Given the description of an element on the screen output the (x, y) to click on. 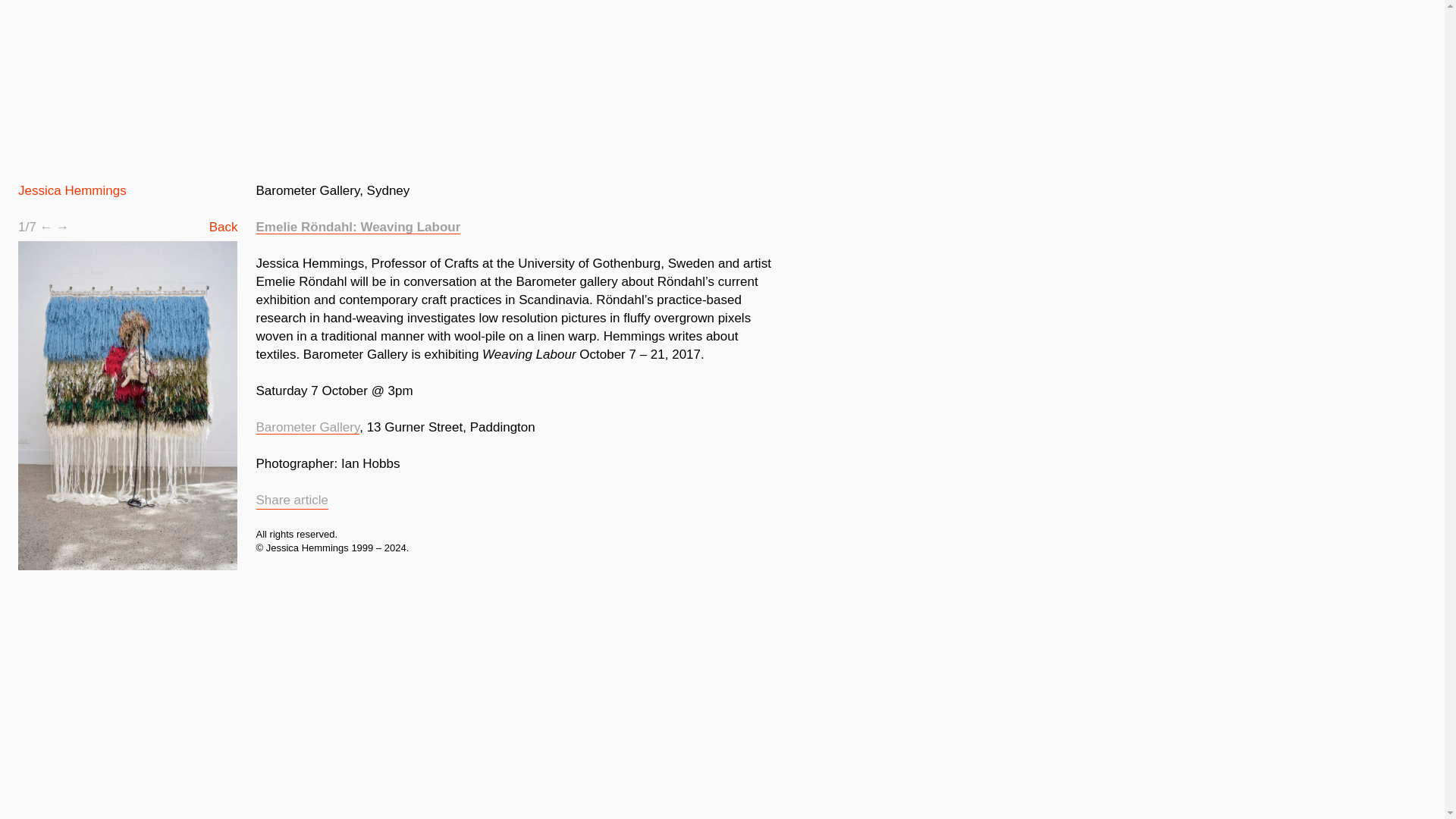
Barometer Gallery (307, 427)
Jessica Hemmings (71, 190)
Back (223, 227)
Share article (292, 500)
